Given the description of an element on the screen output the (x, y) to click on. 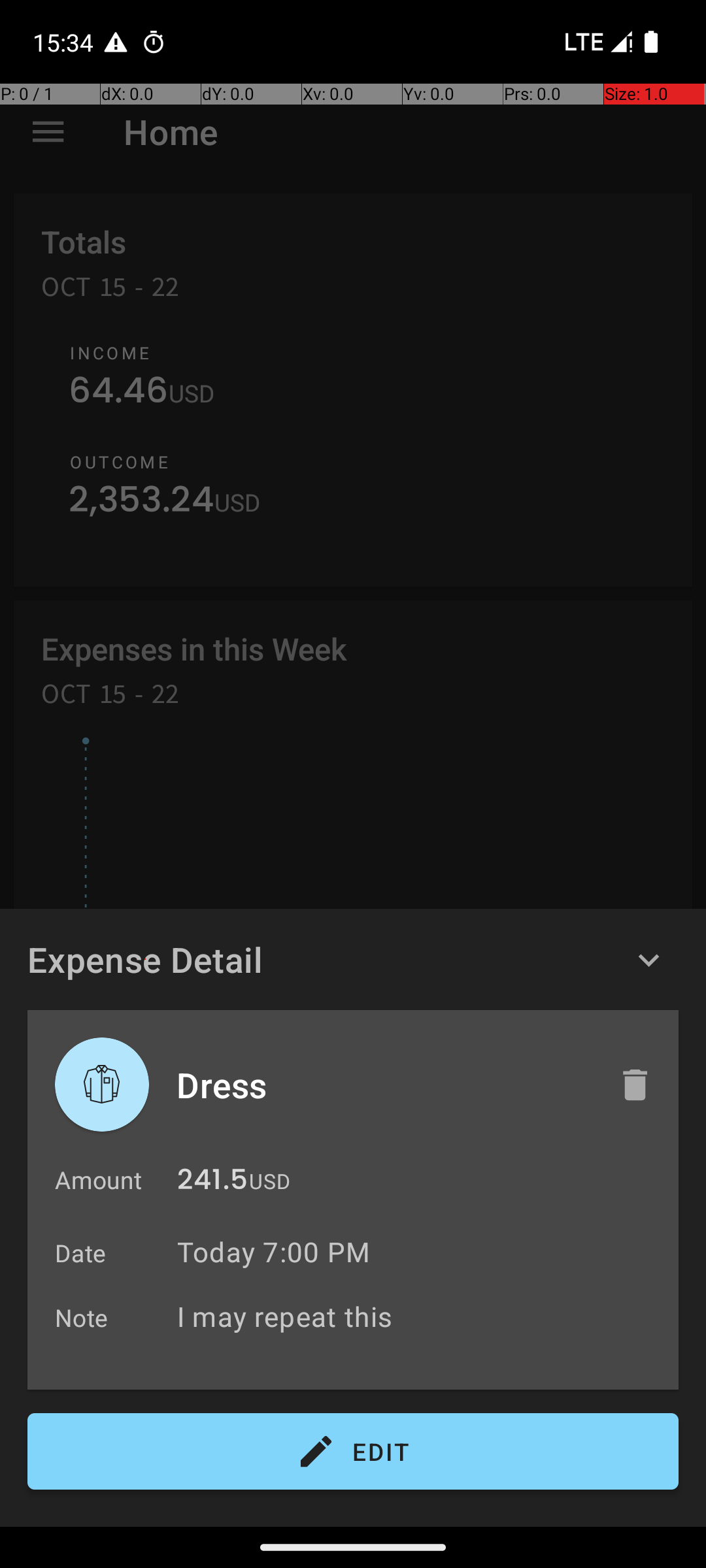
Expense Detail Element type: android.widget.TextView (145, 959)
Dress Element type: android.widget.TextView (383, 1084)
241.5 Element type: android.widget.TextView (212, 1182)
Date Element type: android.widget.TextView (80, 1252)
Today 7:00 PM Element type: android.widget.TextView (273, 1251)
Note Element type: android.widget.TextView (81, 1317)
I may repeat this Element type: android.widget.TextView (420, 1315)
EDIT Element type: android.widget.Button (352, 1451)
